Given the description of an element on the screen output the (x, y) to click on. 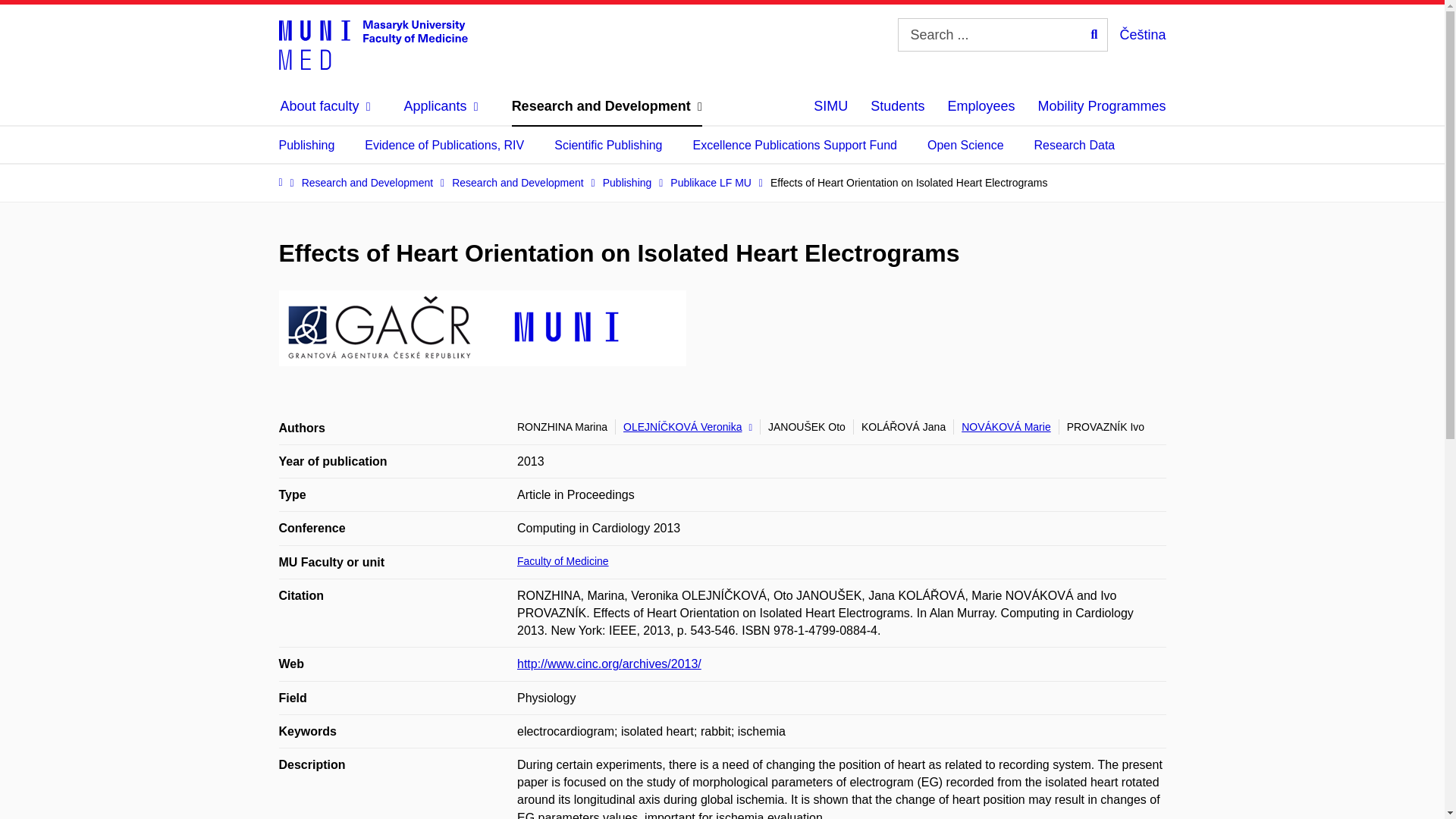
Applicants (441, 105)
Masaryk University Faculty of Medicine (373, 43)
Masaryk University Faculty of Medicine (373, 43)
Homepage site (373, 43)
Research and Development (606, 105)
About faculty (326, 105)
